Given the description of an element on the screen output the (x, y) to click on. 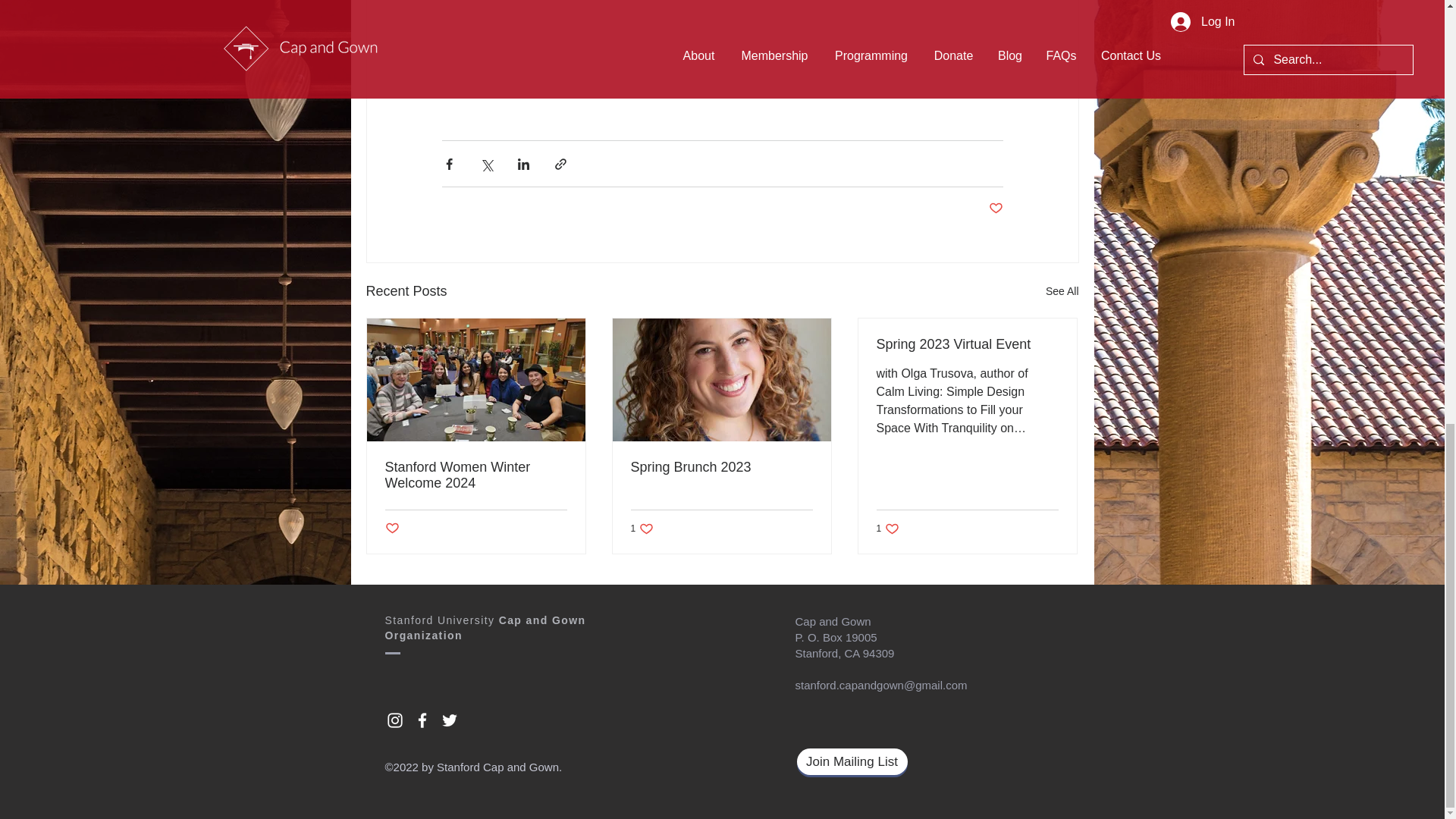
Spring Brunch 2023 (721, 467)
Stanford Women Winter Welcome 2024 (476, 475)
Post not marked as liked (391, 528)
See All (1061, 291)
Post not marked as liked (995, 208)
